Given the description of an element on the screen output the (x, y) to click on. 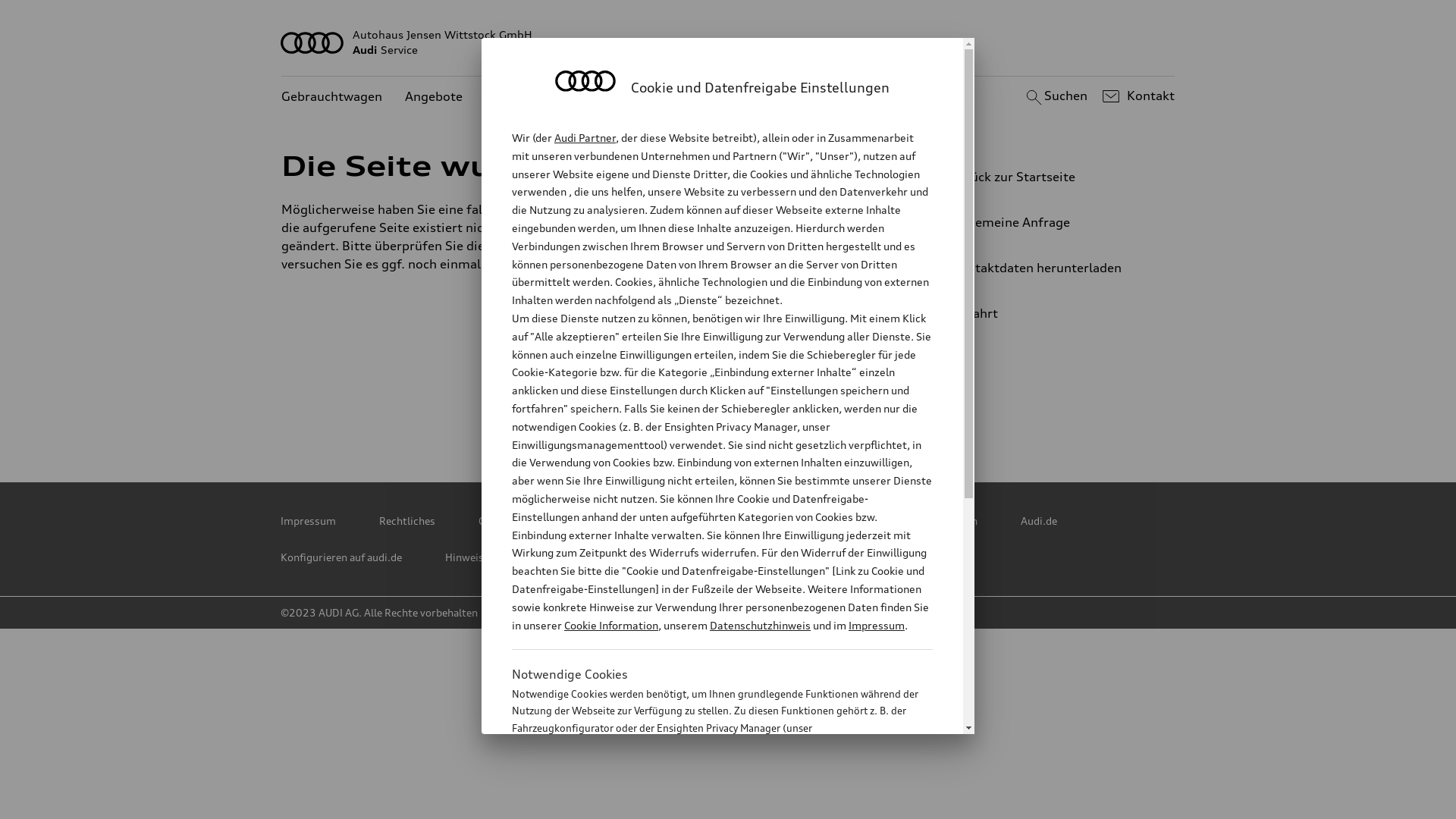
Copyright & Haftungsausschluss Element type: text (557, 520)
Audi.de Element type: text (1038, 520)
Impressum Element type: text (307, 520)
Datenschutzhinweis Element type: text (759, 624)
Twitter Element type: hover (596, 410)
Autohaus Jensen Wittstock GmbH
AudiService Element type: text (727, 42)
Cookie und Datenfreigabe Einstellungen Element type: text (881, 520)
Cookie Information Element type: text (611, 624)
Konfigurieren auf audi.de Element type: text (340, 557)
Kontaktdaten herunterladen Element type: text (1043, 267)
Impressum Element type: text (876, 624)
Instagram Element type: hover (863, 410)
Gebrauchtwagen Element type: text (331, 96)
Anfahrt Element type: text (1049, 313)
Audi Partner Element type: text (584, 137)
Facebook Element type: hover (730, 410)
Pinterest Element type: hover (663, 410)
Kundenservice Element type: text (528, 96)
Suchen Element type: text (1054, 96)
Cookie Information Element type: text (705, 802)
Allgemeine Anfrage Element type: text (1043, 222)
Angebote Element type: text (433, 96)
YouTube Element type: hover (796, 410)
Hinweisgebersystem Element type: text (495, 557)
Kontakt Element type: text (1135, 96)
Rechtliches Element type: text (407, 520)
Cookie Policy Element type: text (711, 520)
